Given the description of an element on the screen output the (x, y) to click on. 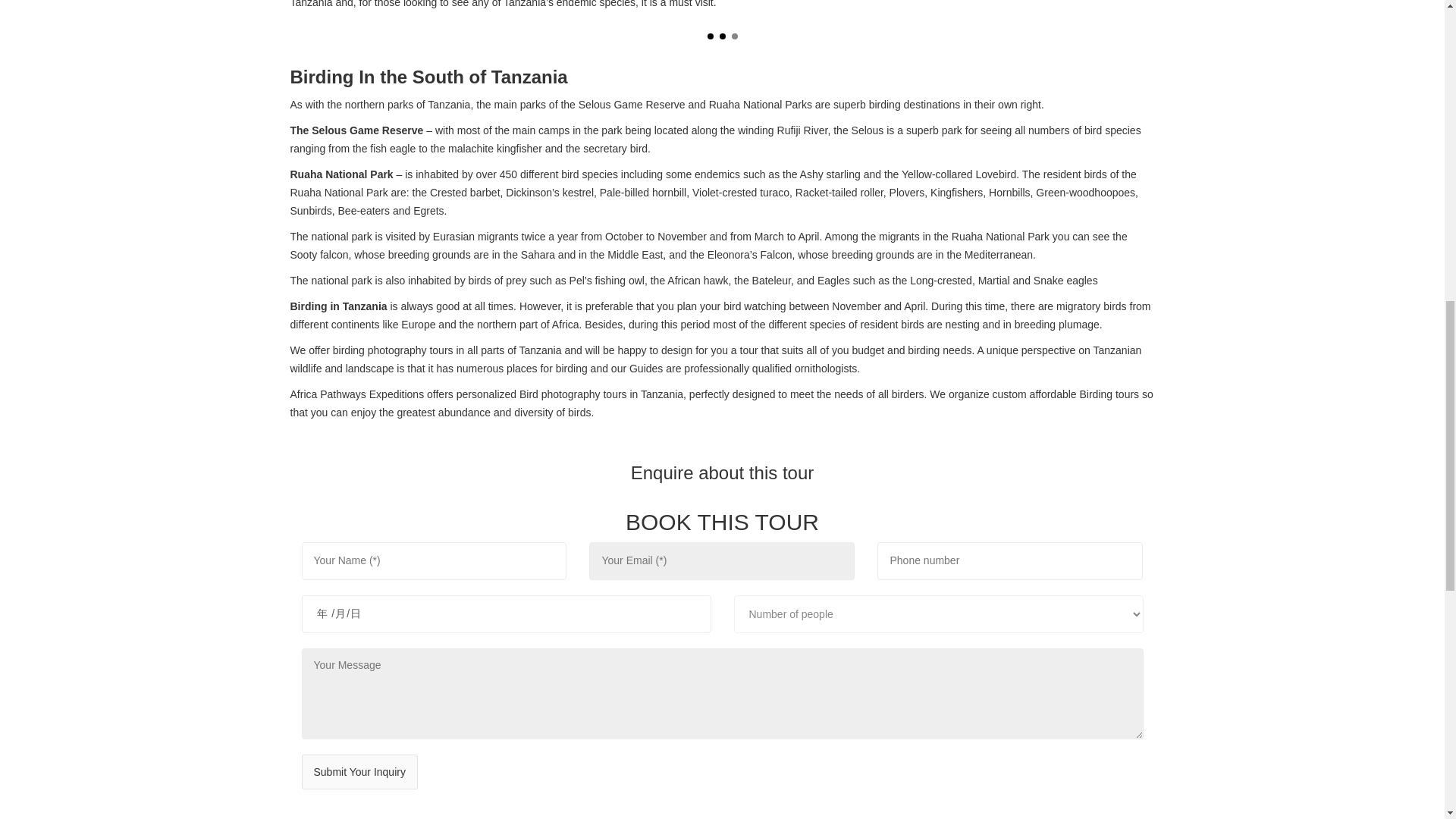
Submit Your Inquiry (359, 771)
